Given the description of an element on the screen output the (x, y) to click on. 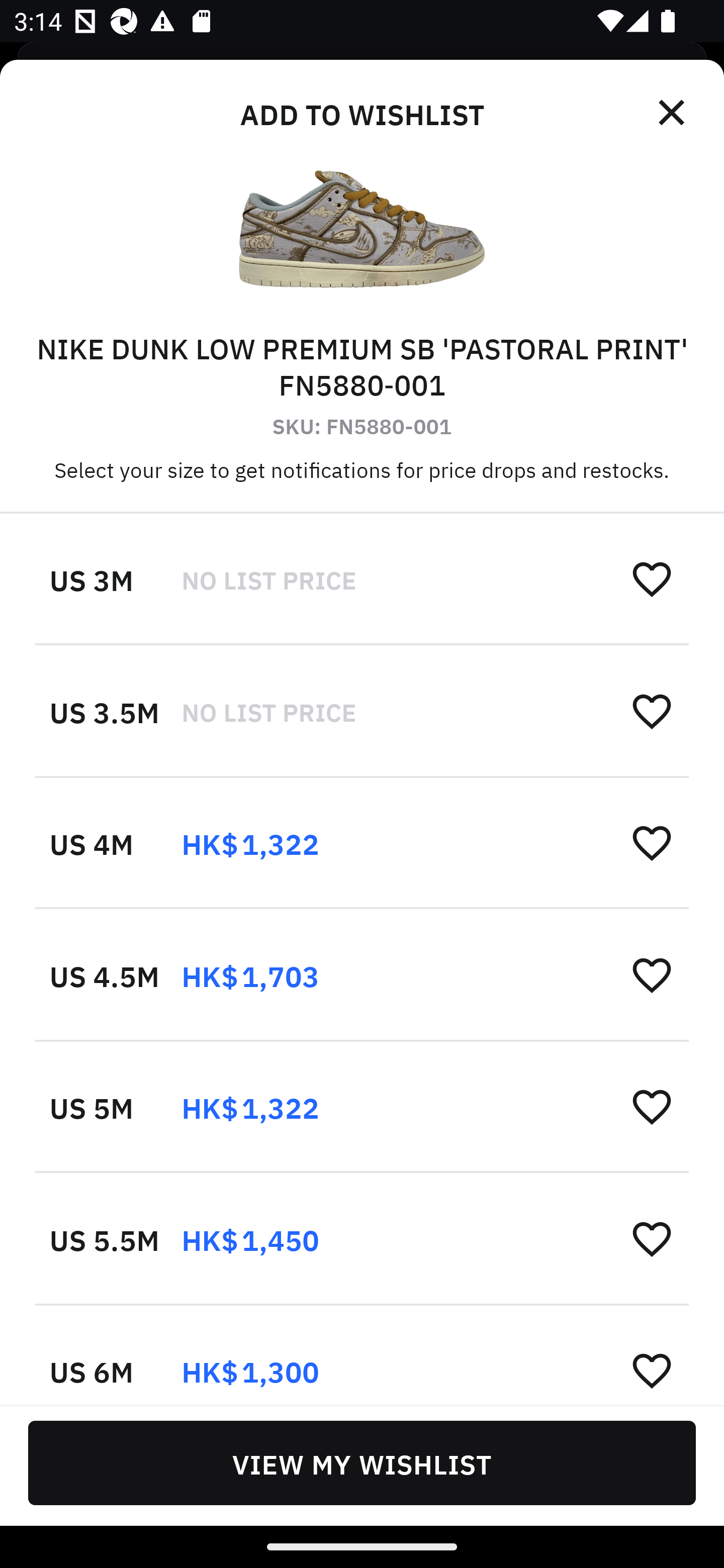
 (672, 112)
󰋕 (651, 578)
󰋕 (651, 710)
󰋕 (651, 842)
󰋕 (651, 974)
󰋕 (651, 1105)
󰋕 (651, 1237)
󰋕 (651, 1369)
VIEW MY WISHLIST (361, 1462)
